Given the description of an element on the screen output the (x, y) to click on. 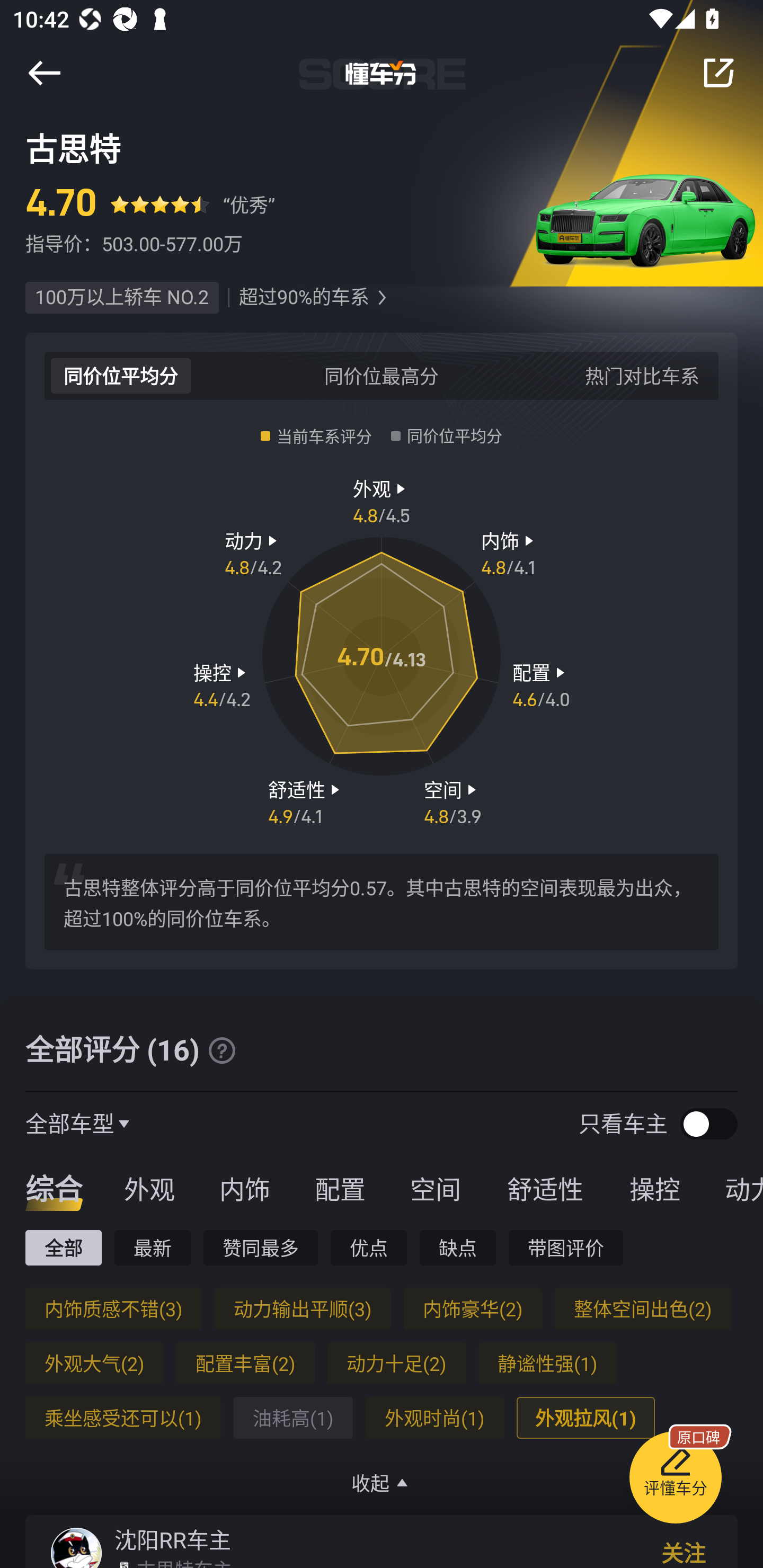
 (44, 72)
 (718, 72)
超过90%的车系 (303, 297)
 (381, 297)
同价位平均分 (120, 375)
同价位最高分 (381, 375)
热门对比车系 (641, 375)
外观  4.8 / 4.5 (381, 500)
动力  4.8 / 4.2 (252, 552)
内饰  4.8 / 4.1 (509, 552)
操控  4.4 / 4.2 (221, 685)
配置  4.6 / 4.0 (540, 685)
舒适性  4.9 / 4.1 (305, 801)
空间  4.8 / 3.9 (452, 801)
 (222, 1050)
全部车型 (69, 1123)
外观 (148, 1188)
内饰 (244, 1188)
配置 (339, 1188)
空间 (434, 1188)
舒适性 (544, 1188)
操控 (654, 1188)
全部 (63, 1247)
最新 (152, 1247)
赞同最多 (260, 1247)
优点 (368, 1247)
缺点 (457, 1247)
带图评价 (565, 1247)
内饰质感不错(3) (113, 1308)
动力输出平顺(3) (302, 1308)
内饰豪华(2) (472, 1308)
整体空间出色(2) (642, 1308)
外观大气(2) (94, 1363)
配置丰富(2) (245, 1363)
动力十足(2) (396, 1363)
静谧性强(1) (547, 1363)
乘坐感受还可以(1) (123, 1418)
油耗高(1) (292, 1418)
外观时尚(1) (434, 1418)
外观拉风(1) (585, 1418)
 评懂车分 原口碑 (675, 1480)
收起  (381, 1482)
沈阳RR车主 (172, 1539)
关注 (683, 1550)
